Given the description of an element on the screen output the (x, y) to click on. 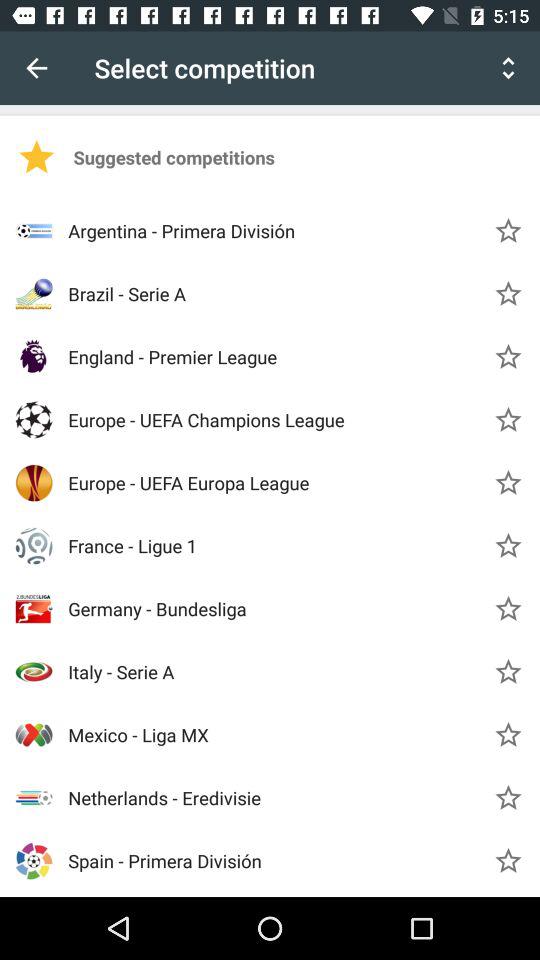
open icon next to the select competition (508, 67)
